Given the description of an element on the screen output the (x, y) to click on. 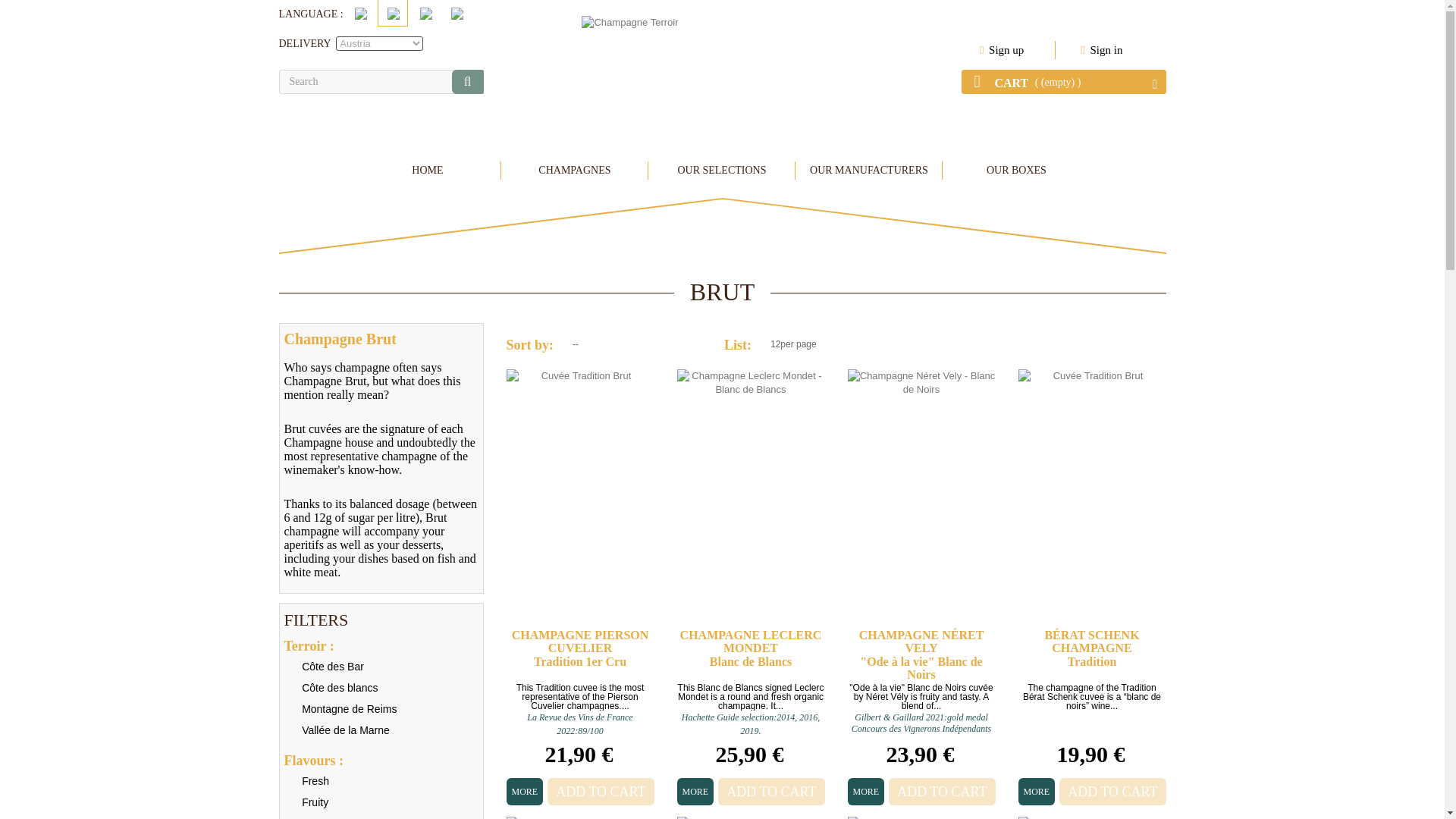
CHAMPAGNES (573, 170)
View my shopping cart (1063, 81)
HOME (426, 170)
Log in to your customer account (1004, 49)
Sign in (1104, 49)
OUR SELECTIONS (720, 170)
Sign up (1004, 49)
Champagnes (573, 170)
Log in to your customer account (1104, 49)
OUR MANUFACTURERS (868, 170)
Home (426, 170)
